Given the description of an element on the screen output the (x, y) to click on. 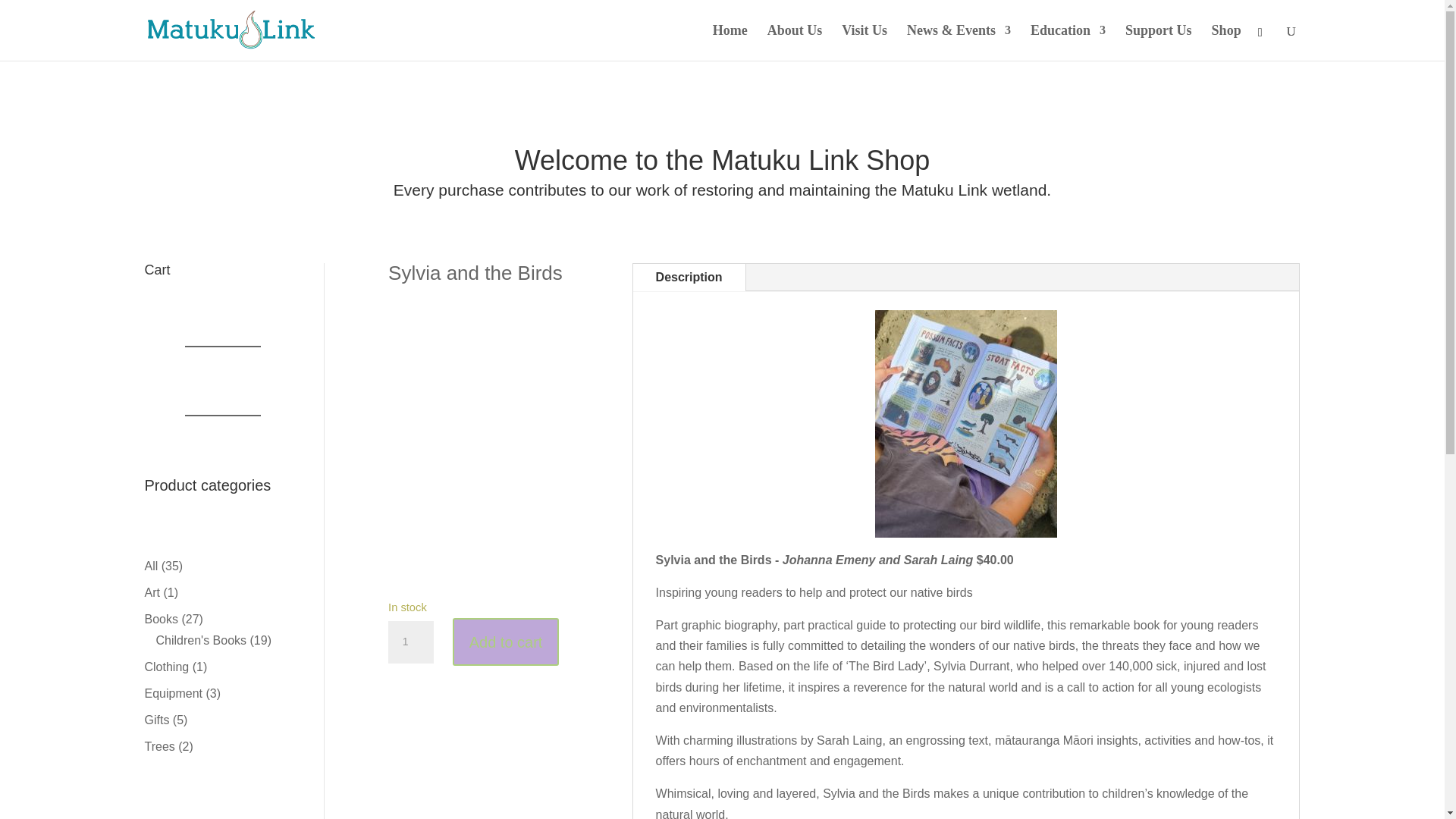
Art (151, 592)
Add to cart (505, 641)
Gifts (156, 719)
About Us (794, 42)
Visit Us (863, 42)
Home (730, 42)
Support Us (1158, 42)
Equipment (173, 693)
Books (160, 618)
Description (689, 276)
Trees (159, 746)
Clothing (166, 666)
Children's Books (201, 640)
1 (410, 641)
All (150, 565)
